Given the description of an element on the screen output the (x, y) to click on. 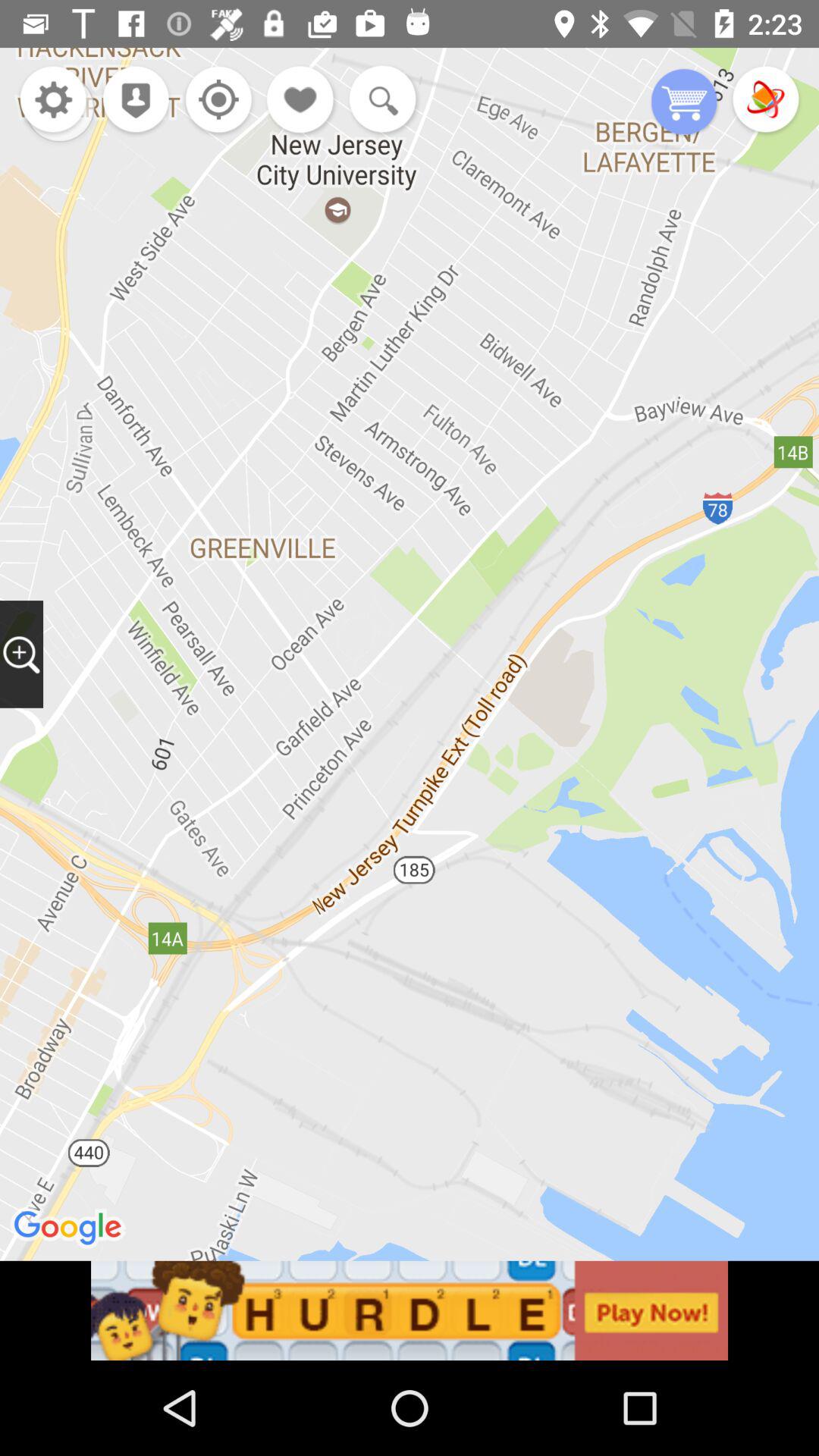
click zoom in option (21, 654)
